Given the description of an element on the screen output the (x, y) to click on. 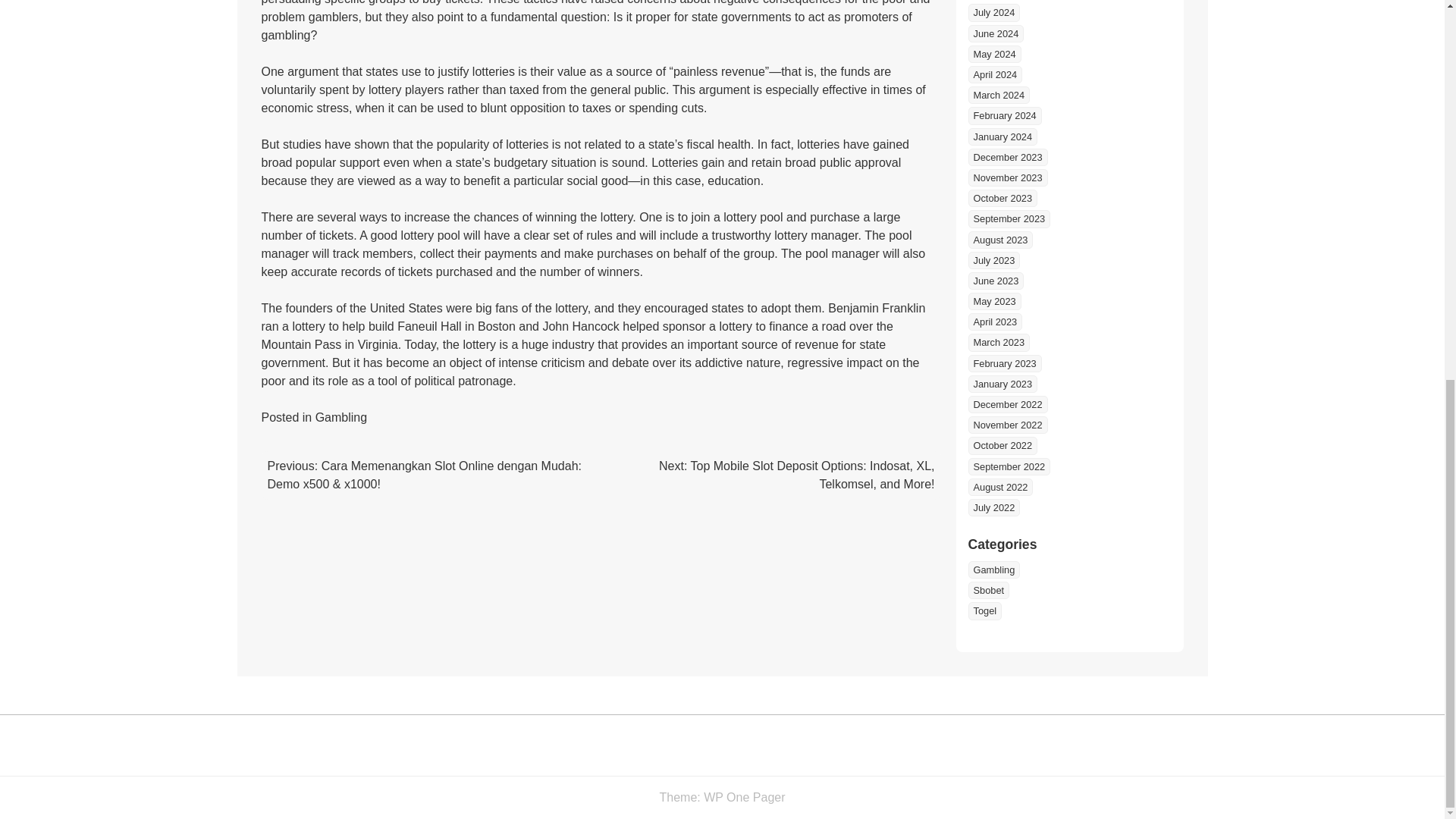
August 2023 (1000, 239)
September 2023 (1008, 218)
November 2022 (1007, 425)
April 2023 (995, 321)
March 2023 (998, 342)
October 2022 (1002, 445)
May 2023 (994, 301)
June 2024 (995, 33)
July 2023 (994, 260)
Gambling (340, 417)
April 2024 (995, 74)
Sbobet (988, 589)
Gambling (994, 569)
January 2023 (1002, 384)
